Given the description of an element on the screen output the (x, y) to click on. 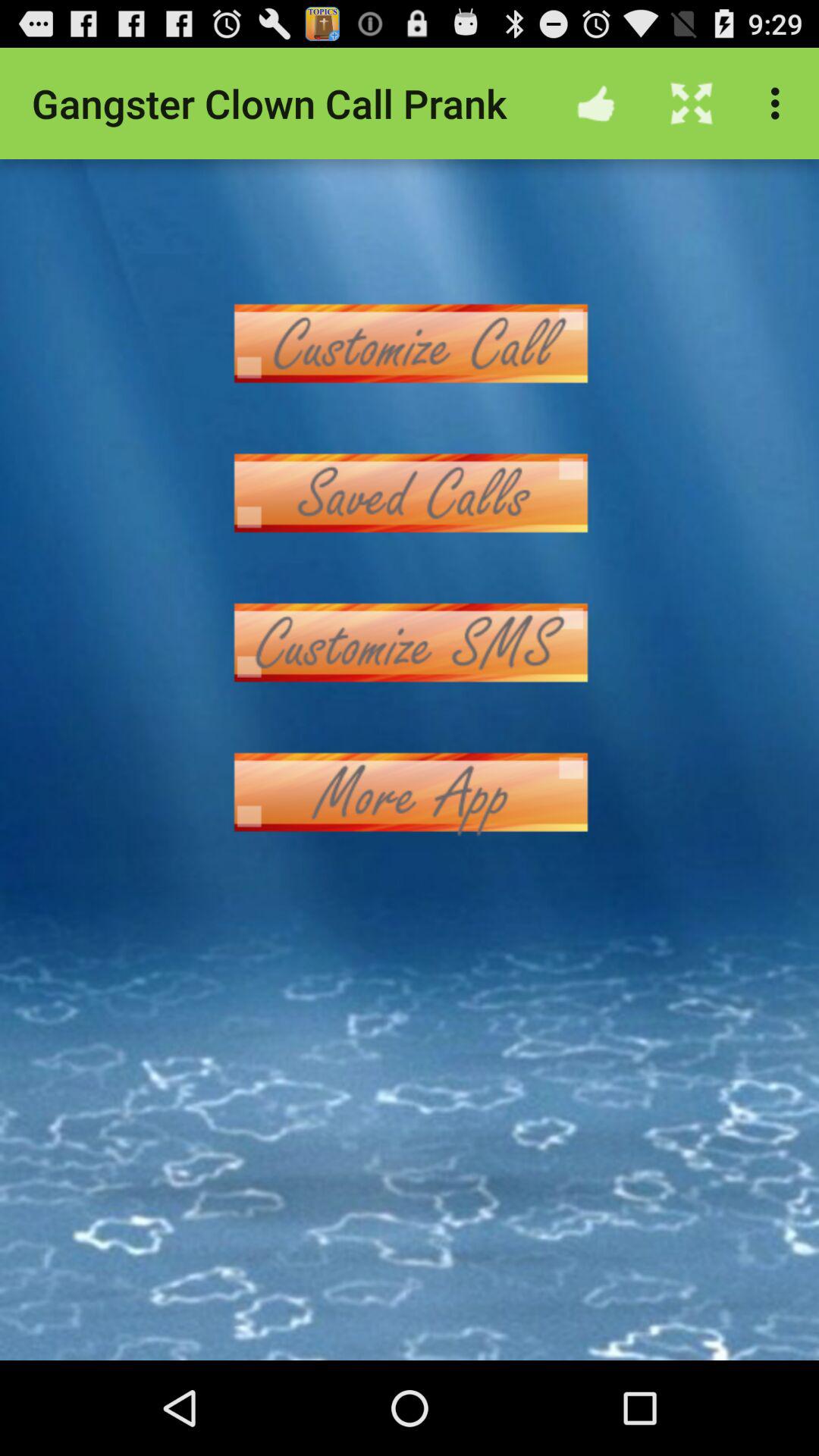
open a menu (409, 492)
